Given the description of an element on the screen output the (x, y) to click on. 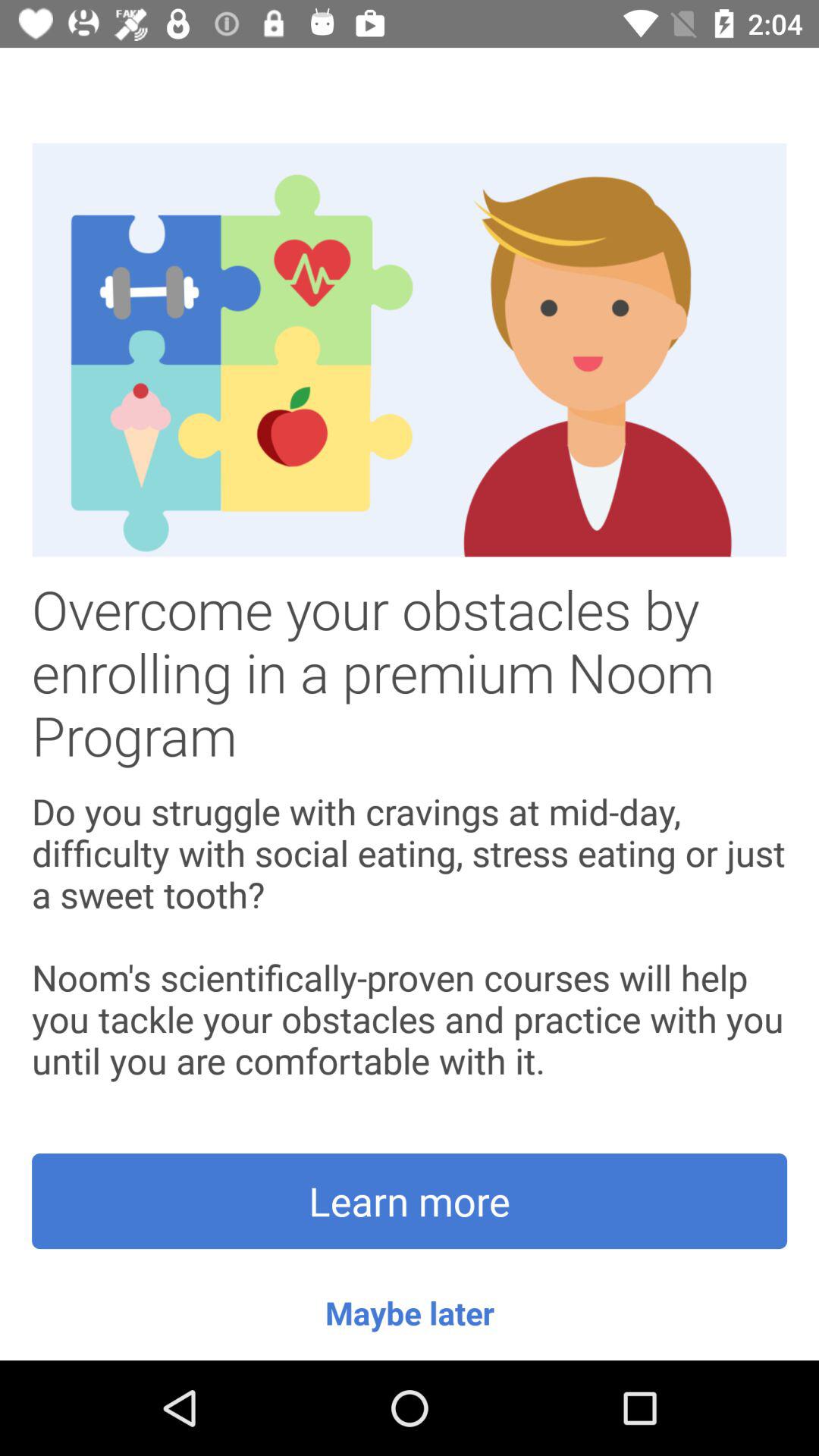
turn on item below do you struggle (409, 1200)
